Given the description of an element on the screen output the (x, y) to click on. 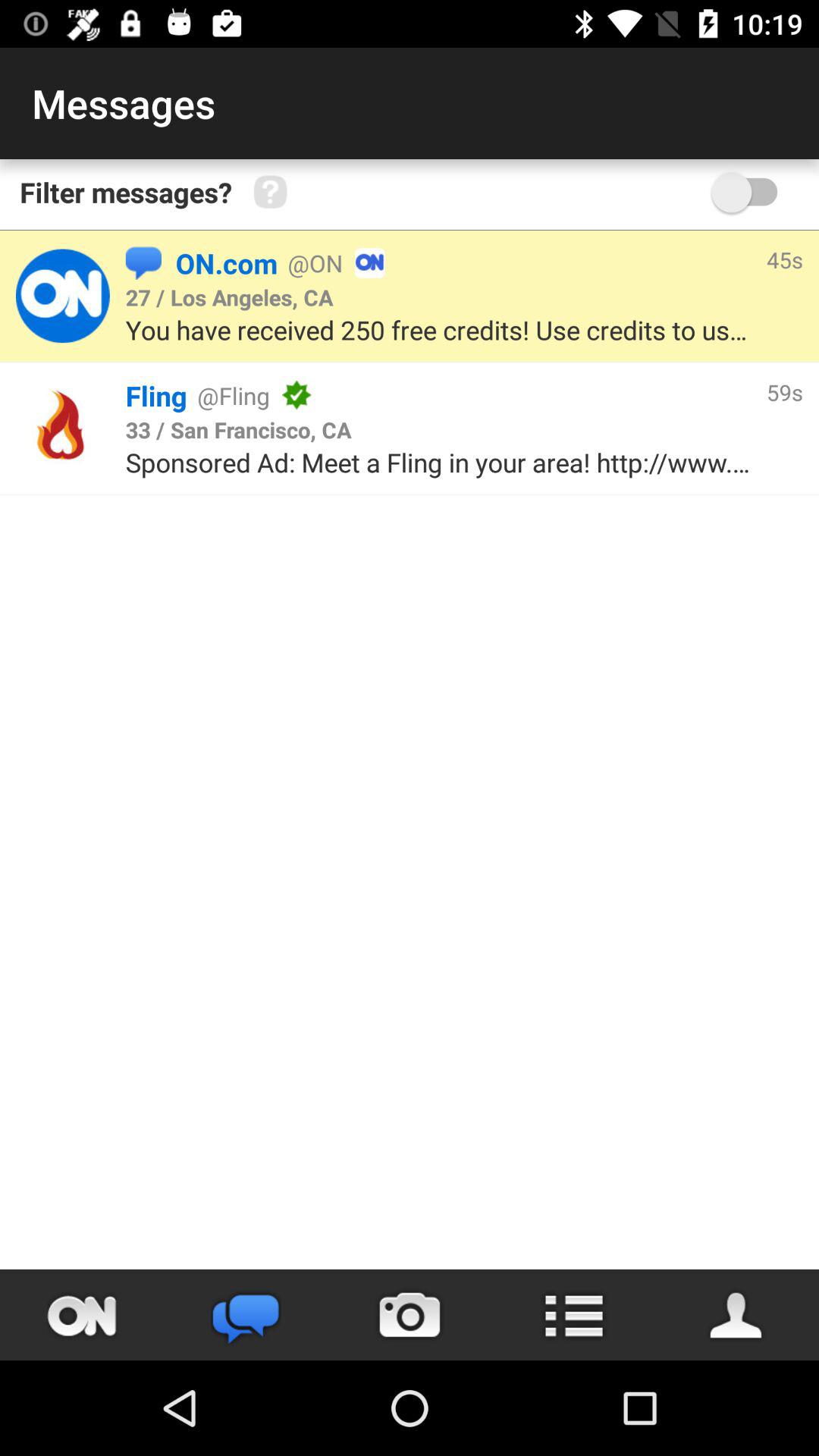
turn off the item above the 27 los angeles item (143, 262)
